Given the description of an element on the screen output the (x, y) to click on. 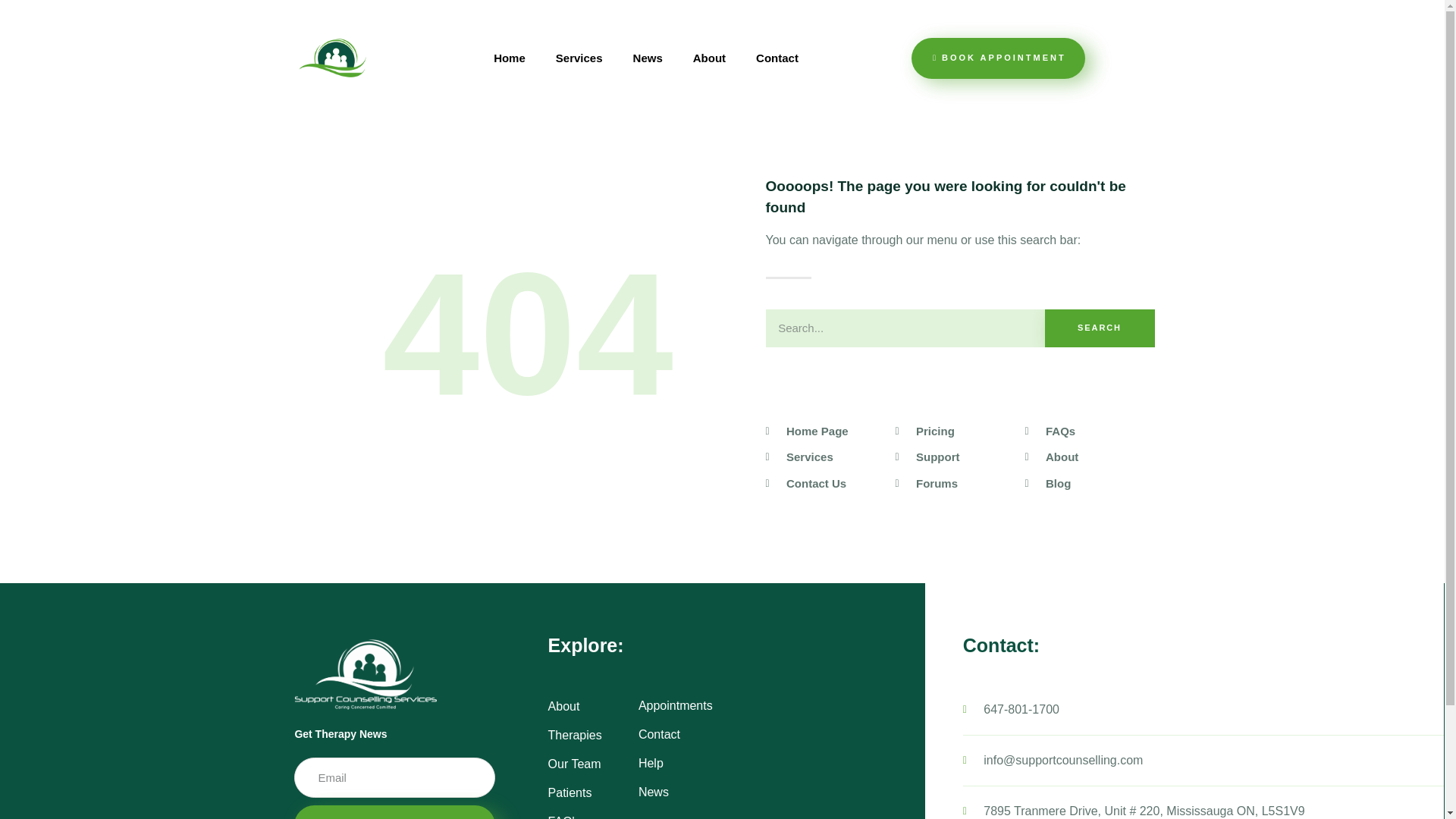
Services (578, 57)
SEND (394, 812)
News (647, 57)
Home (509, 57)
Search (1099, 328)
Contact (777, 57)
Search (905, 328)
BOOK APPOINTMENT (997, 57)
SEARCH (1099, 328)
About (709, 57)
